Given the description of an element on the screen output the (x, y) to click on. 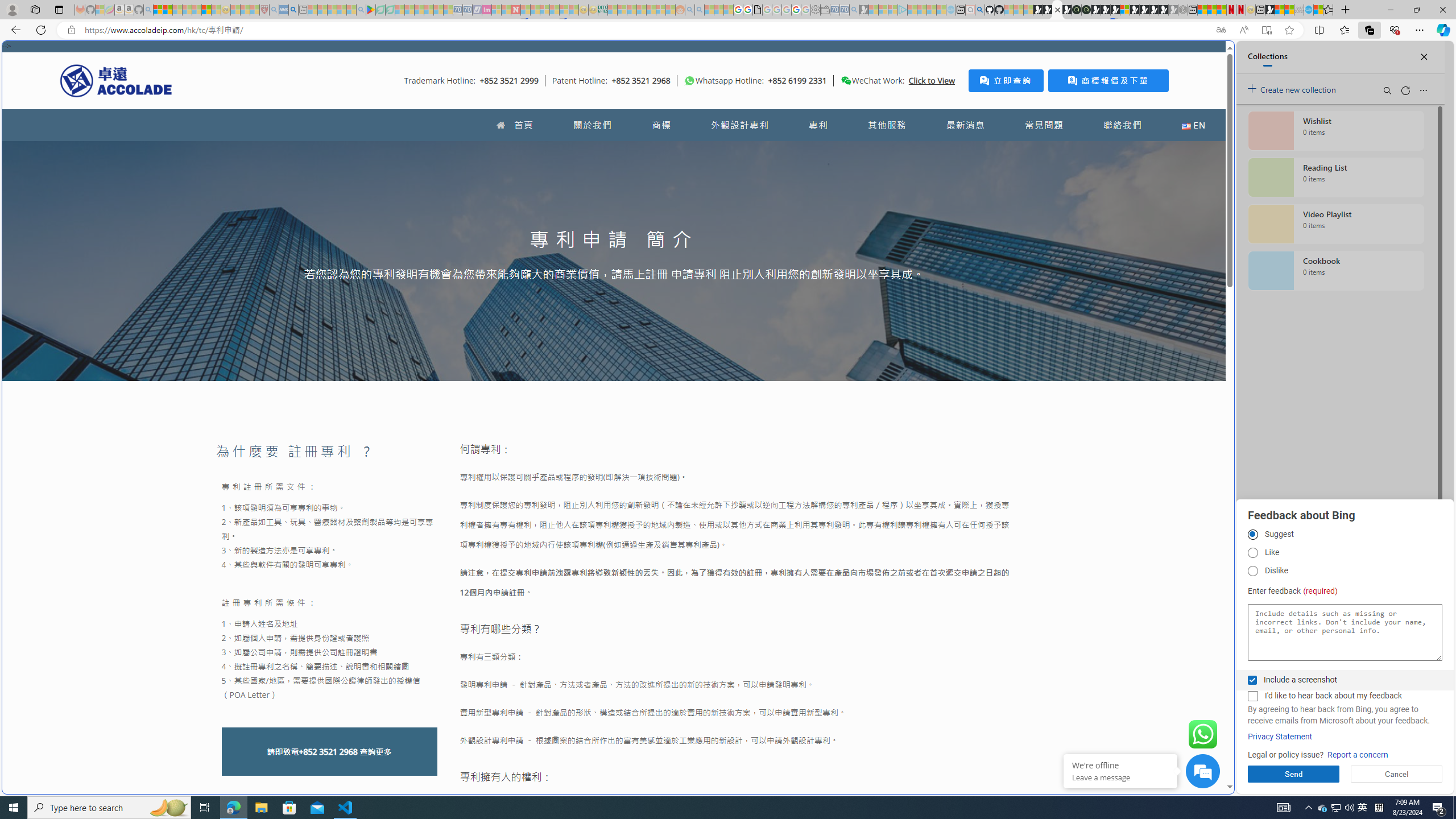
Pets - MSN - Sleeping (340, 9)
EN (1193, 124)
I'd like to hear back about my feedback (1252, 696)
Like (1252, 552)
